Given the description of an element on the screen output the (x, y) to click on. 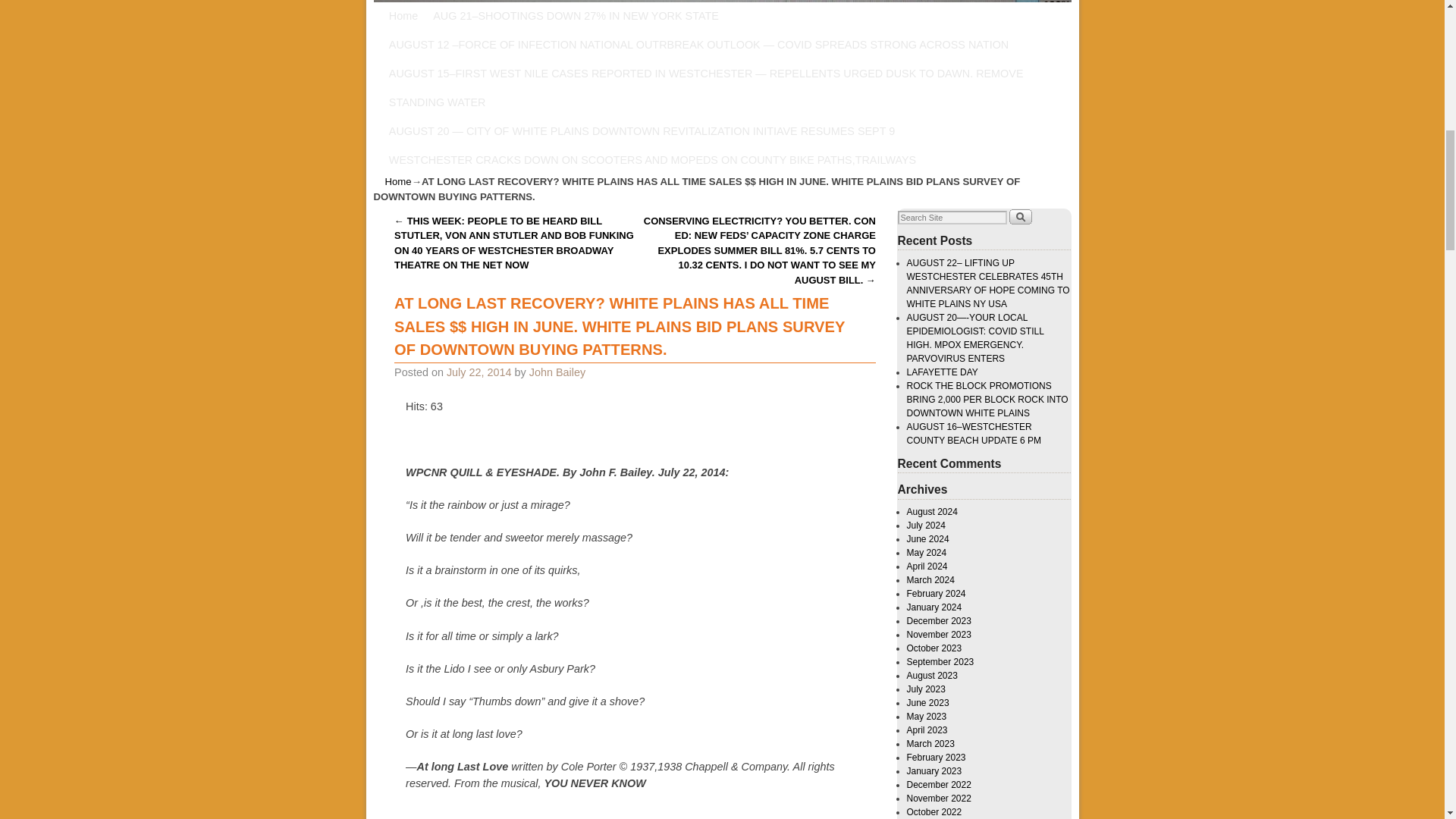
May 2024 (927, 552)
September 2023 (940, 661)
October 2023 (934, 647)
Home (398, 181)
Skip to secondary content (460, 15)
August 2024 (932, 511)
12:15 pm (479, 372)
John Bailey (557, 372)
Home (403, 15)
